Given the description of an element on the screen output the (x, y) to click on. 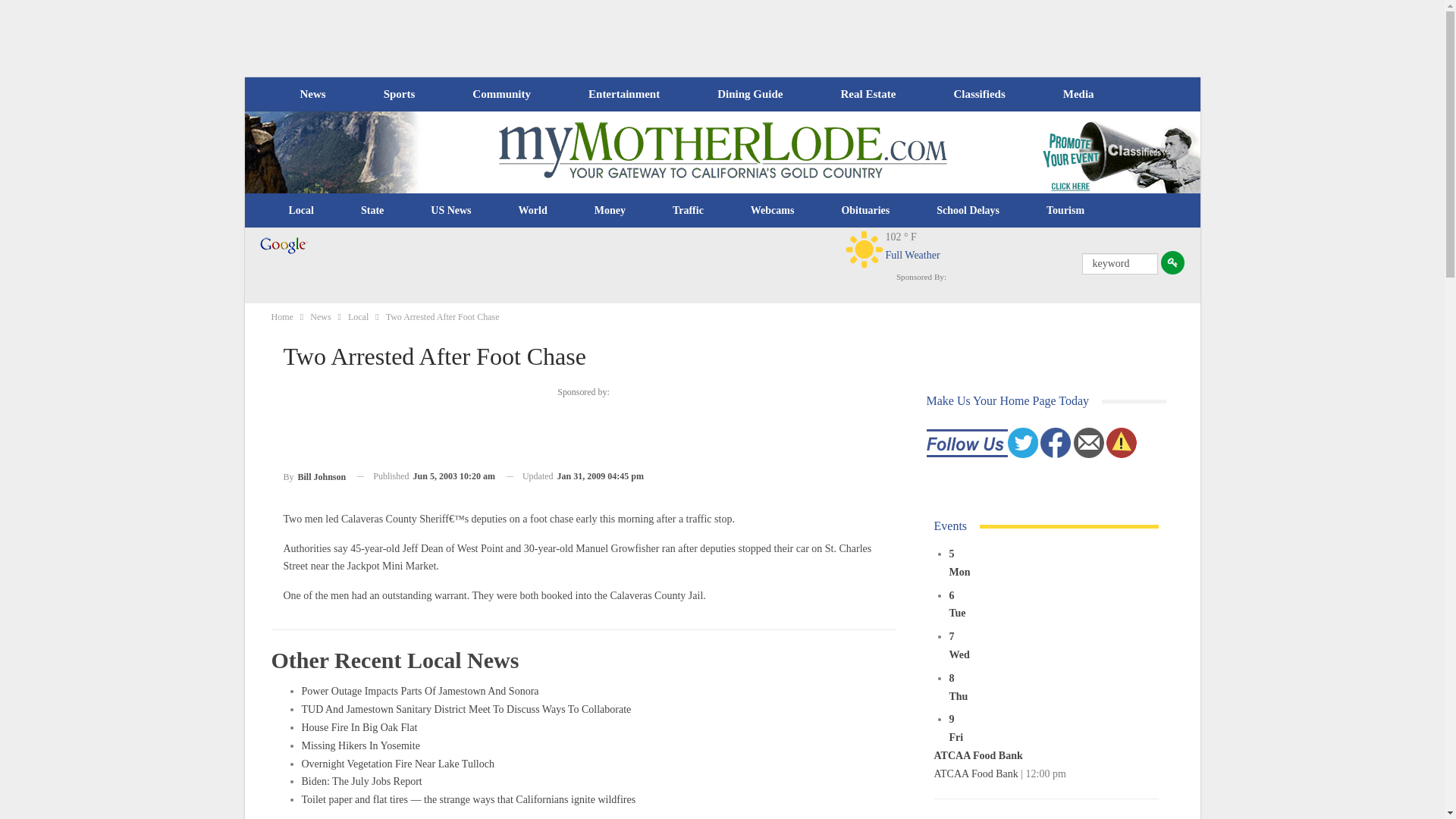
Money (609, 210)
Local (300, 210)
Classifieds (979, 93)
Media (1078, 93)
US News (451, 210)
Entertainment (624, 93)
Webcams (772, 210)
Traffic (687, 210)
World (532, 210)
Clear (864, 249)
State (372, 210)
School Delays (967, 210)
Submit (1172, 262)
